Given the description of an element on the screen output the (x, y) to click on. 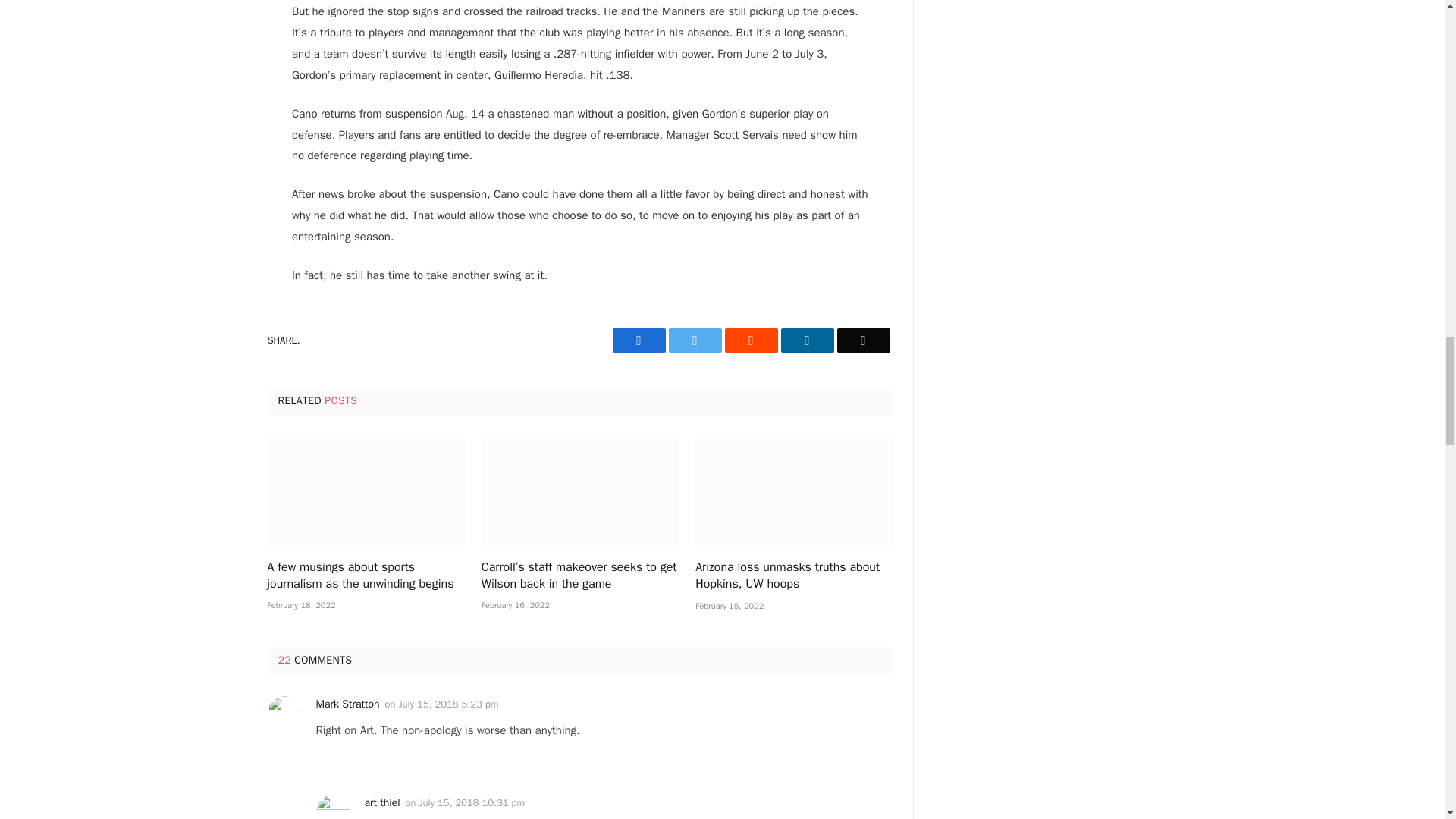
Email (863, 340)
Facebook (638, 340)
Reddit (751, 340)
Twitter (695, 340)
LinkedIn (807, 340)
